Given the description of an element on the screen output the (x, y) to click on. 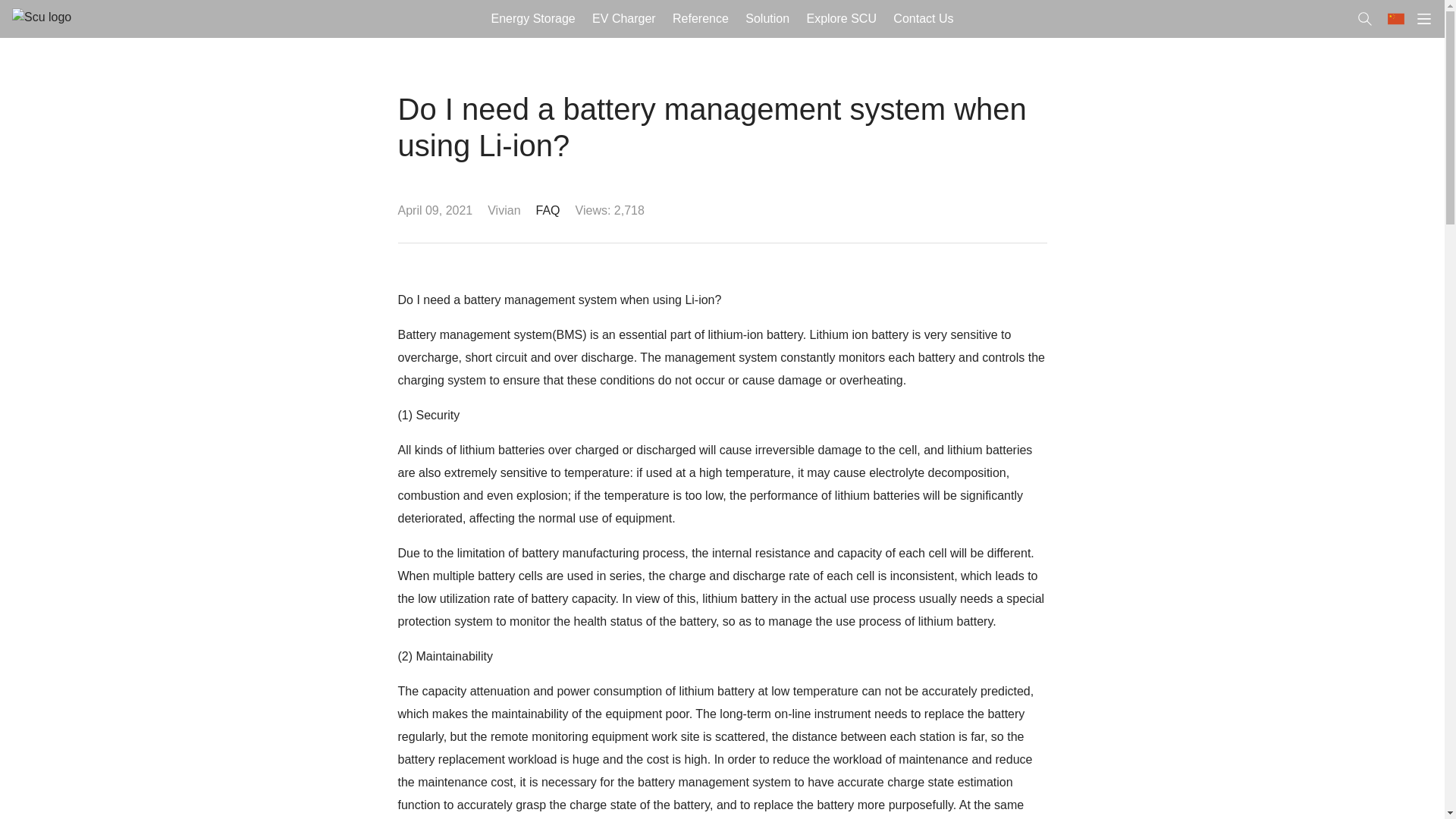
Contact Us (923, 18)
EV Charger (623, 18)
Search (25, 11)
Reference (699, 18)
Solution (766, 18)
Energy Storage (532, 18)
Explore SCU (841, 18)
